Given the description of an element on the screen output the (x, y) to click on. 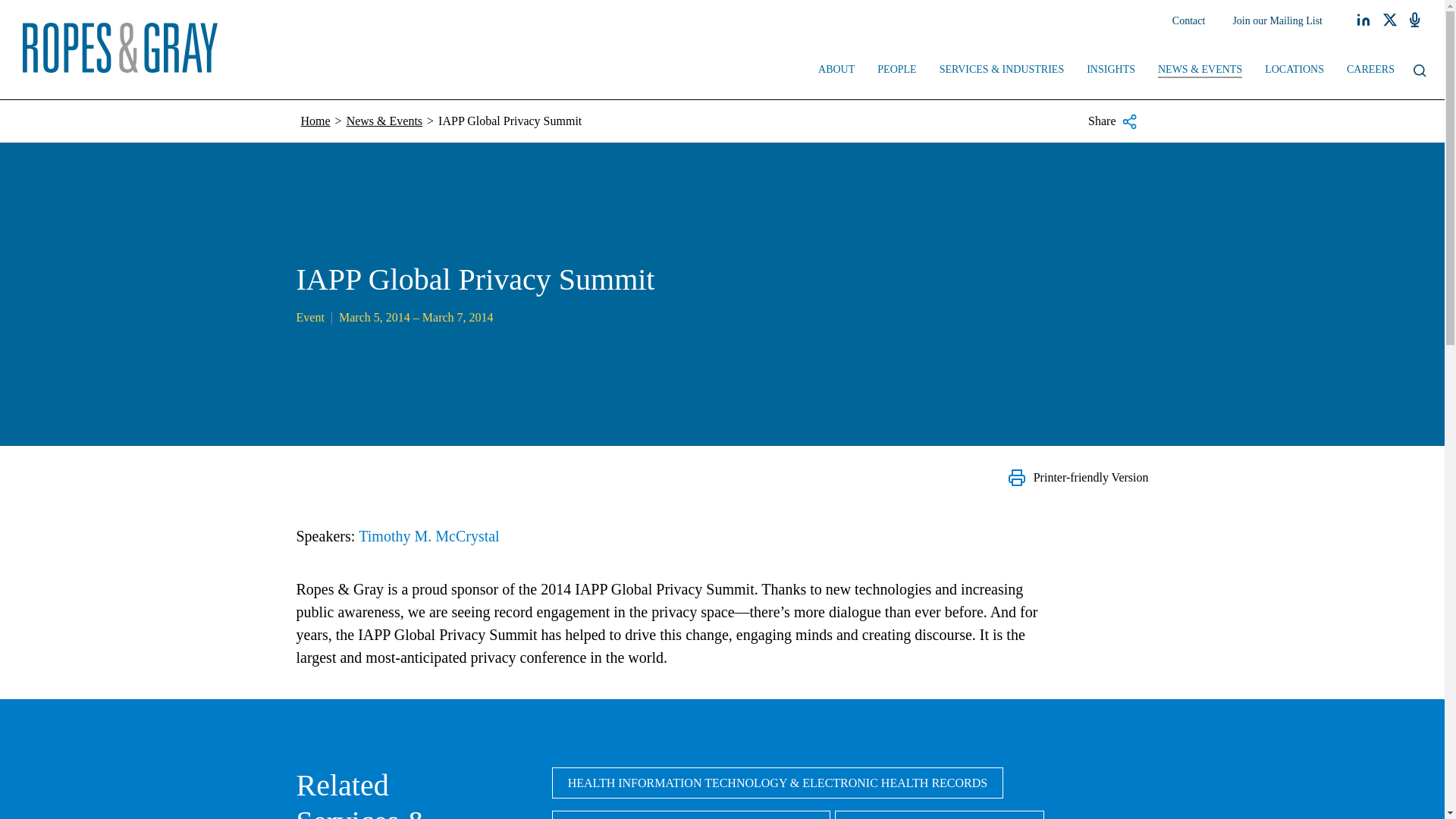
INSIGHTS (1111, 70)
Join our Mailing List (1277, 21)
Share (1112, 121)
ABOUT (836, 70)
LOCATIONS (1294, 70)
Home (314, 121)
Timothy M. McCrystal (428, 535)
Printer-friendly Version (1077, 477)
Contact (1189, 21)
PEOPLE (896, 70)
